Given the description of an element on the screen output the (x, y) to click on. 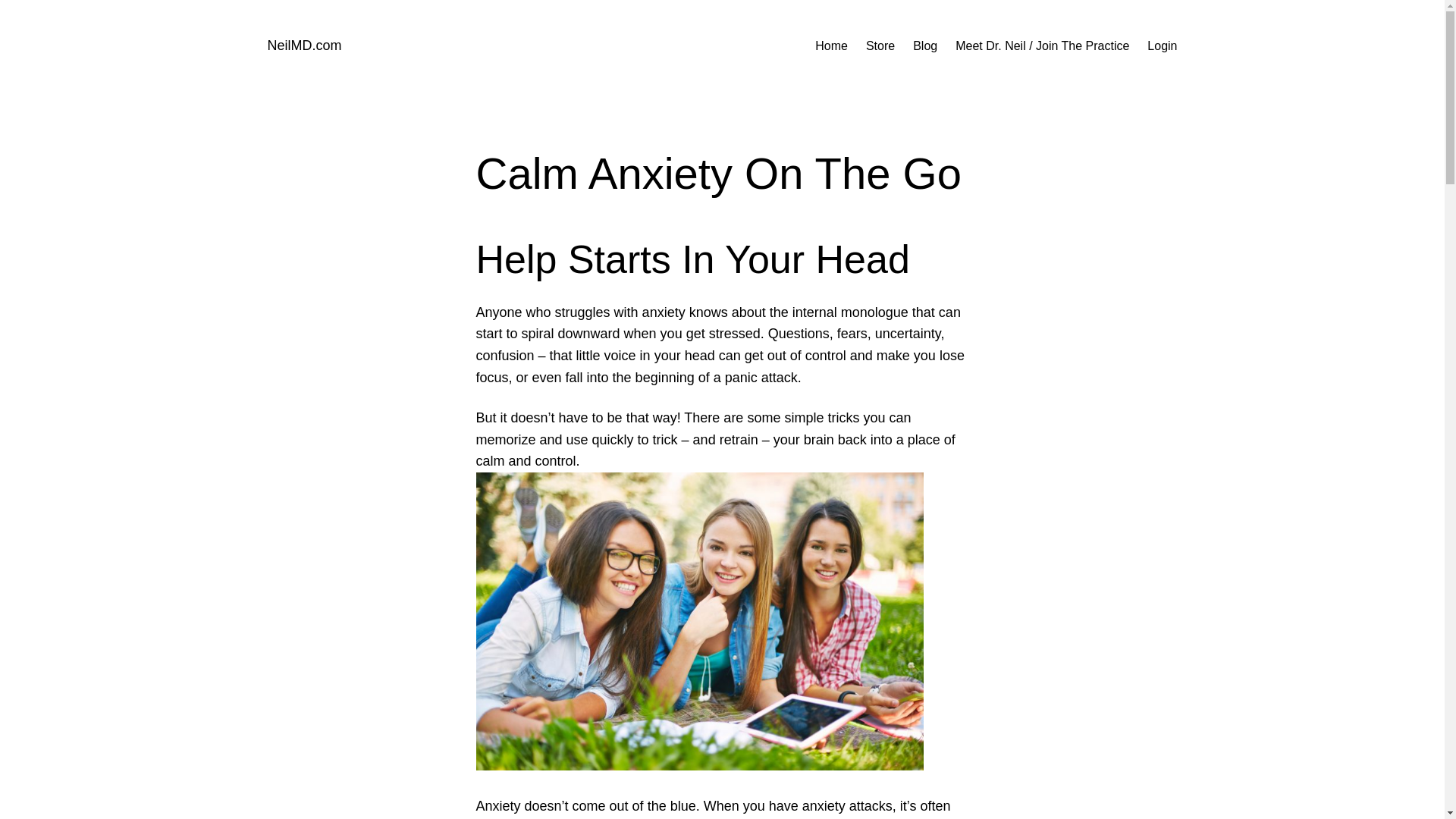
NeilMD.com (303, 45)
Home (831, 46)
Store (880, 46)
Blog (924, 46)
Login (1161, 46)
